Given the description of an element on the screen output the (x, y) to click on. 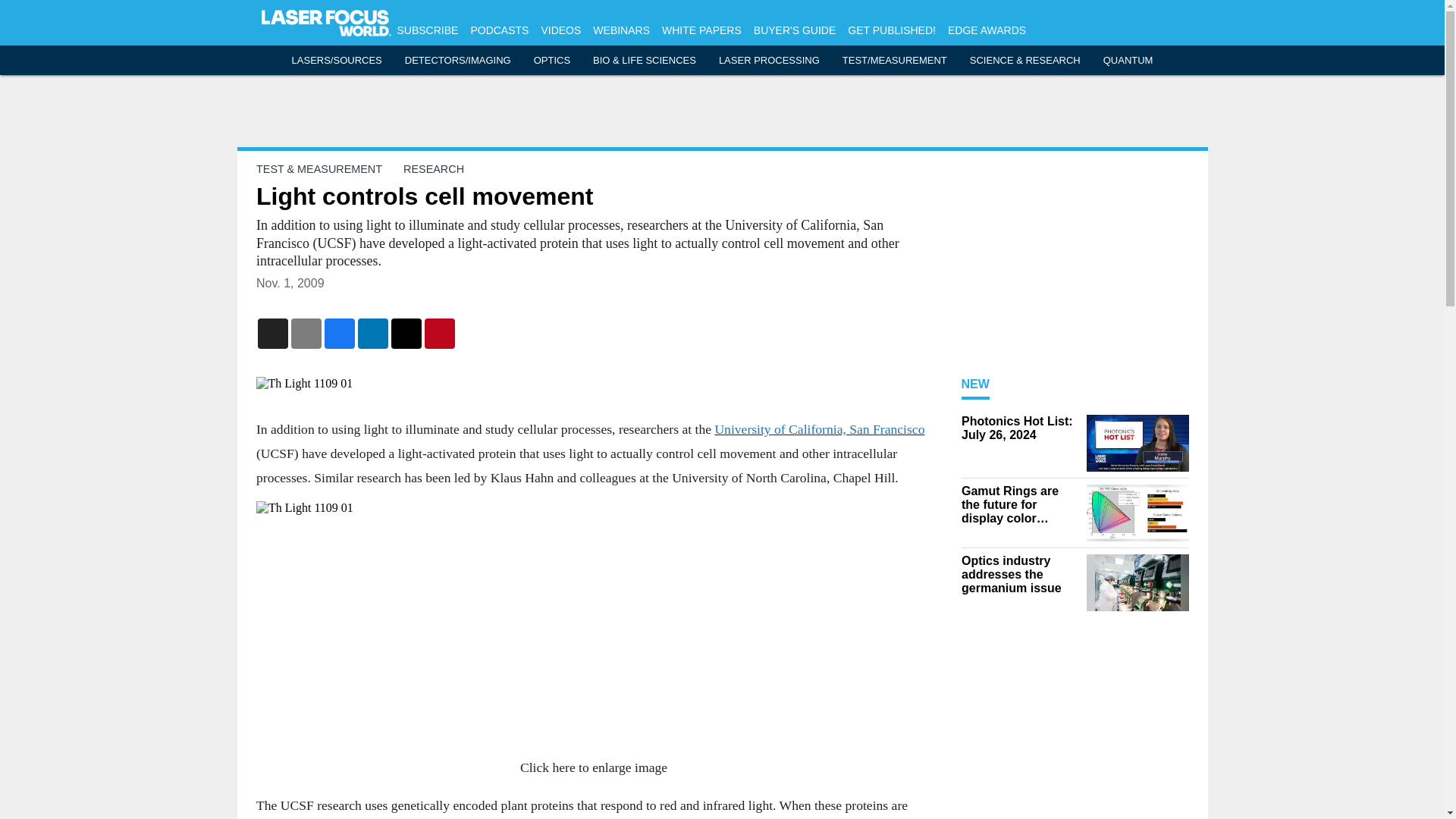
WHITE PAPERS (701, 30)
EDGE AWARDS (986, 30)
RESEARCH (433, 168)
University of California, San Francisco (819, 428)
WEBINARS (620, 30)
Th Light 1109 01 (593, 383)
LASER PROCESSING (769, 60)
SUBSCRIBE (427, 30)
OPTICS (552, 60)
QUANTUM (1128, 60)
PODCASTS (499, 30)
VIDEOS (560, 30)
BUYER'S GUIDE (794, 30)
GET PUBLISHED! (891, 30)
